Given the description of an element on the screen output the (x, y) to click on. 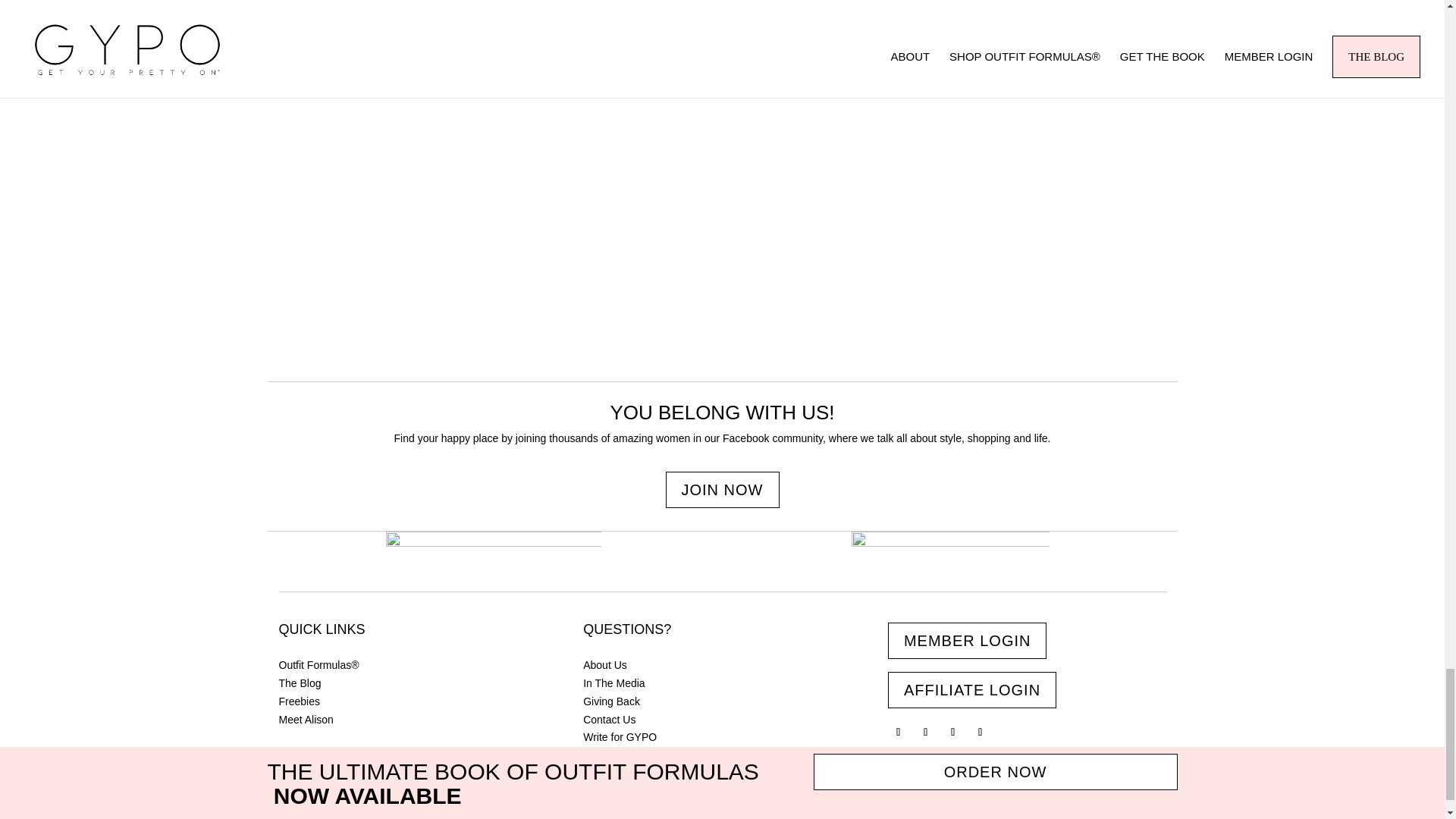
Follow on Facebook (898, 731)
Follow on Youtube (980, 731)
Follow on Instagram (925, 731)
JOIN NOW (721, 489)
Follow on Pinterest (952, 731)
